Given the description of an element on the screen output the (x, y) to click on. 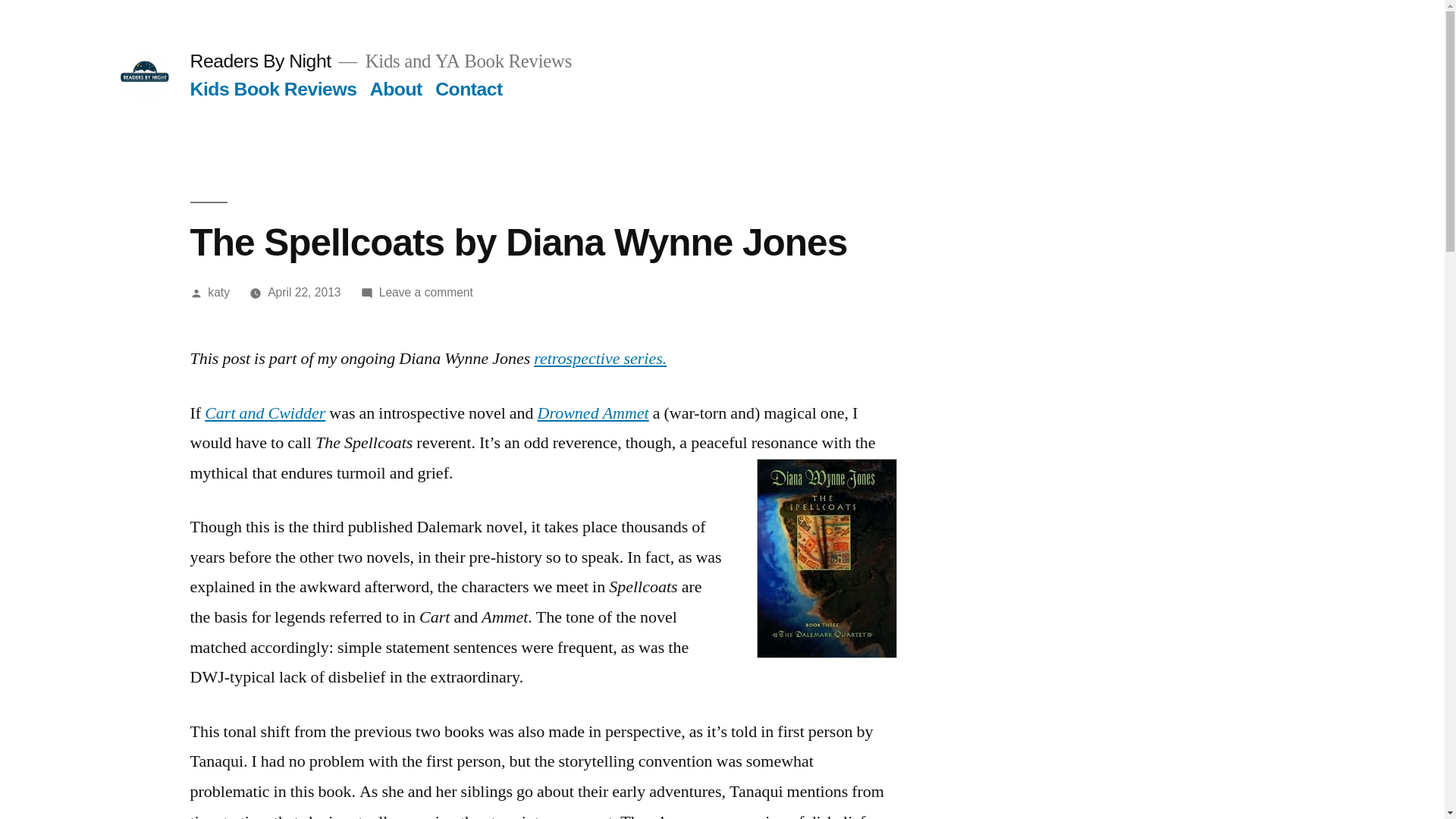
Readers By Night (259, 60)
About (395, 88)
Cart and Cwidder by Diana Wynne Jones (264, 412)
Drowned Ammet (593, 412)
Drowned Ammet by Diana Wynne Jones (593, 412)
Kids Book Reviews (272, 88)
retrospective series. (600, 358)
Cart and Cwidder (264, 412)
katy (219, 291)
Contact (468, 88)
